Given the description of an element on the screen output the (x, y) to click on. 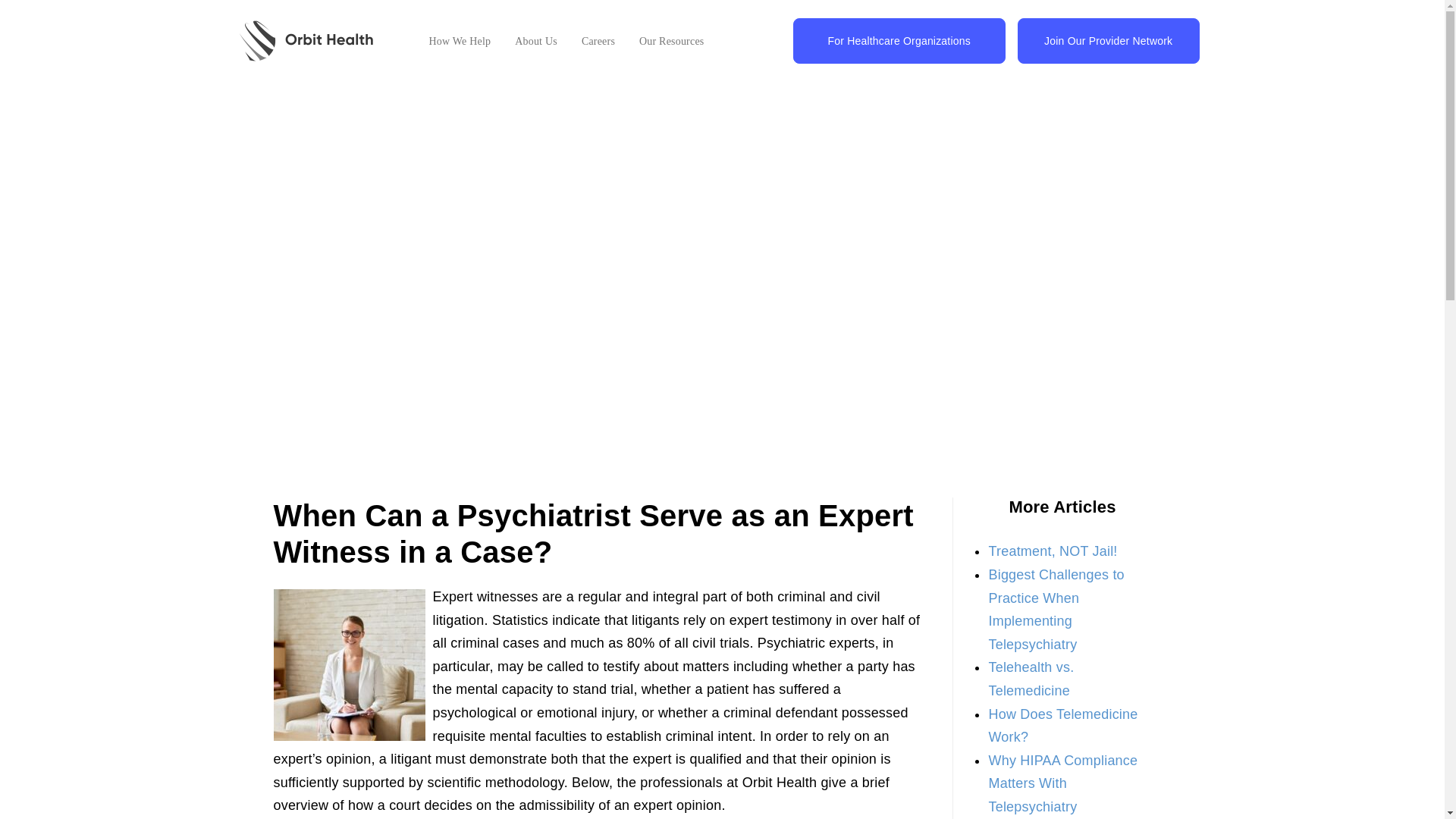
Join Our Provider Network (1108, 40)
How Does Telemedicine Work? (1062, 725)
Why HIPAA Compliance Matters With Telepsychiatry (1062, 783)
Telehealth vs. Telemedicine (1031, 679)
For Healthcare Organizations (899, 40)
About Us (536, 41)
How We Help (460, 41)
Treatment, NOT Jail! (1052, 550)
Beautiful Psychologist Posing for Photography (349, 664)
